Given the description of an element on the screen output the (x, y) to click on. 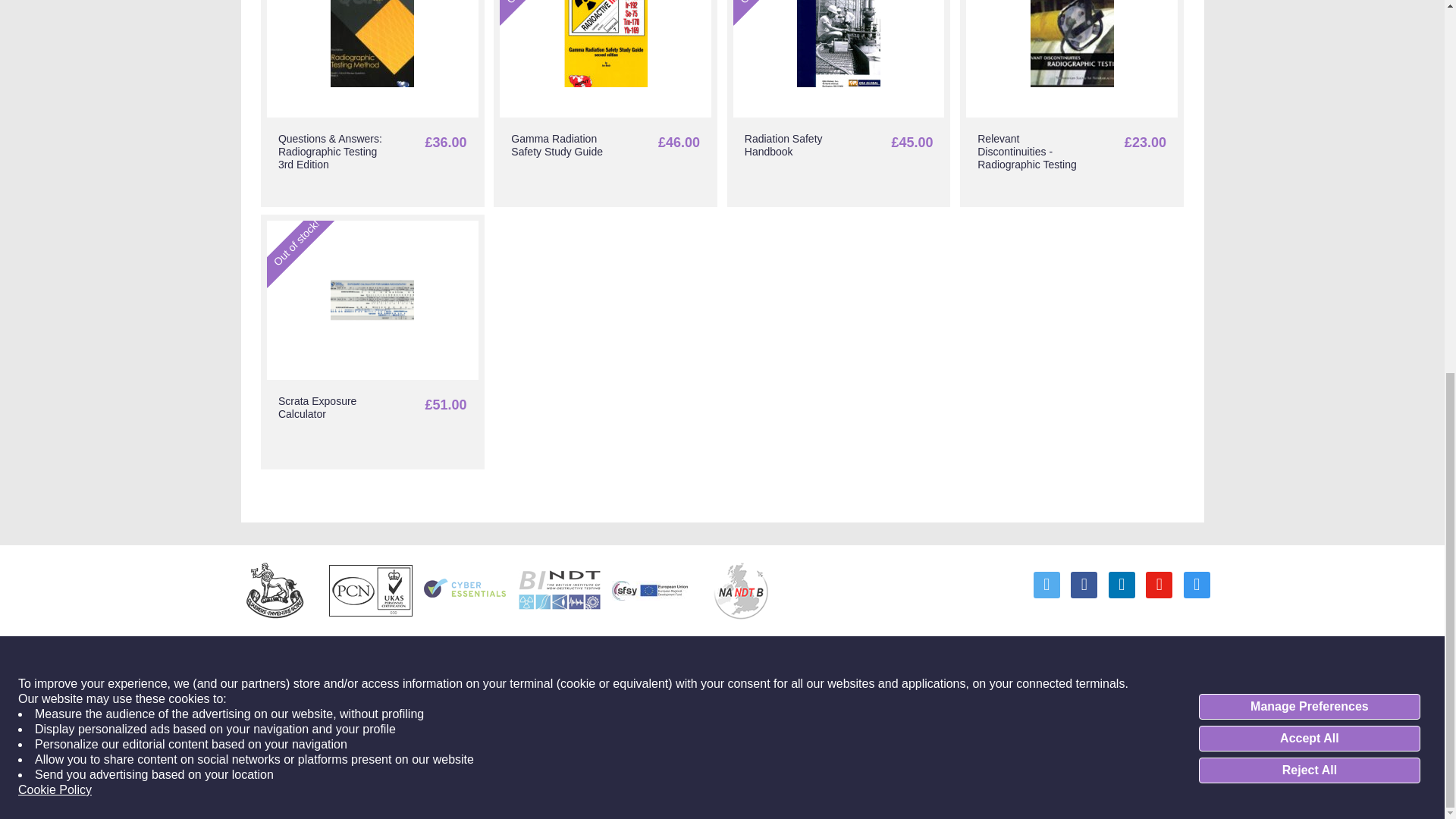
Relevant Discontinuities - Radiographic Testing (1071, 103)
Cookie Policy (54, 107)
Reject All (1309, 87)
Manage Preferences (1309, 23)
Cookie policy (944, 704)
Privacy policy (880, 704)
Radiation Safety Handbook (838, 103)
Accept All (1309, 55)
Site Map (996, 704)
Gamma Radiation Safety Study Guide (605, 103)
Scrata Exposure Calculator (372, 341)
HMA (1198, 749)
